Given the description of an element on the screen output the (x, y) to click on. 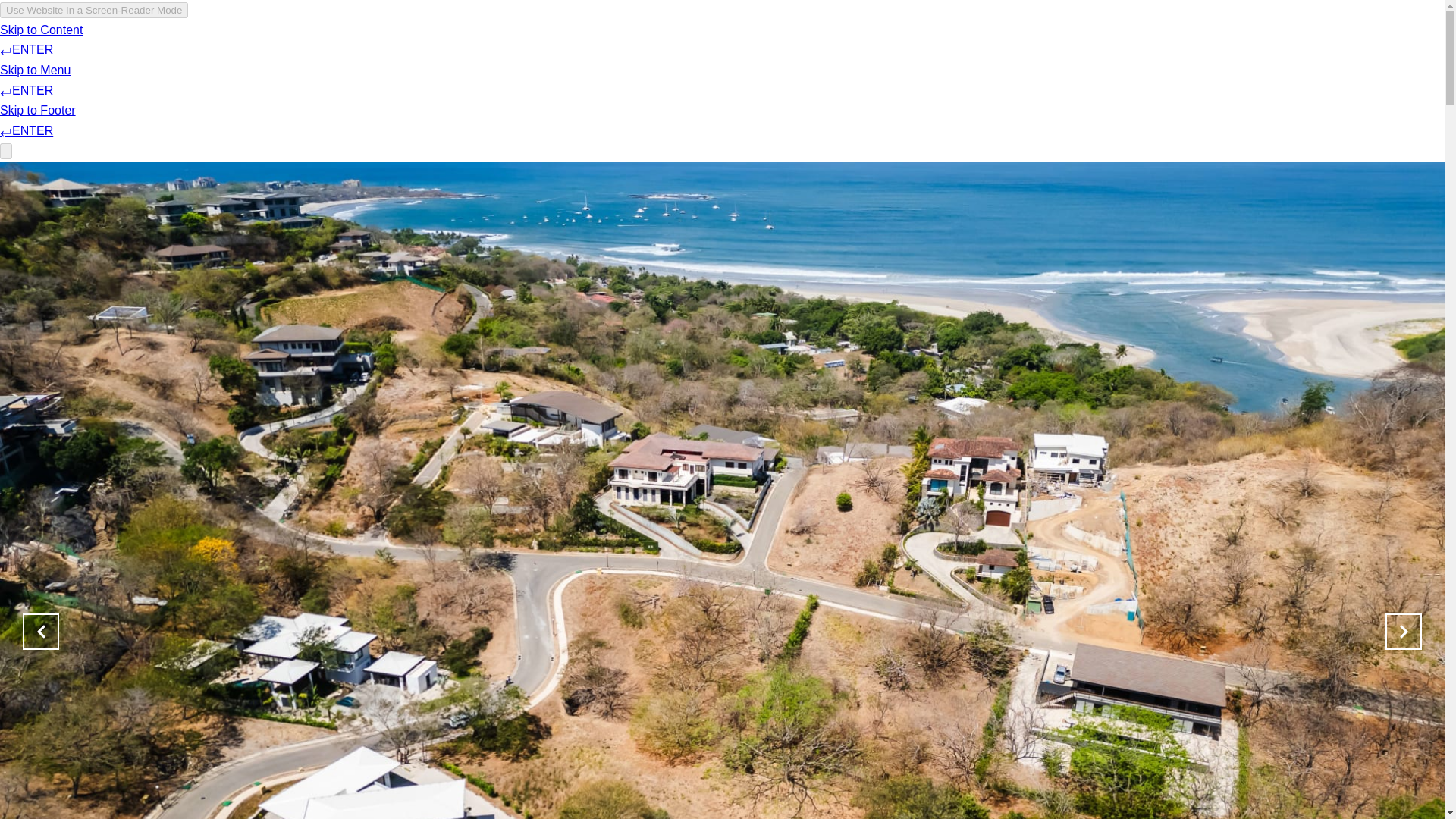
CONTACT US (948, 55)
HOME SEARCH (645, 55)
LIST WITH US (851, 55)
FEATURED PROPERTIES (513, 55)
THE TEAM (392, 55)
COMMUNITIES (750, 55)
